Given the description of an element on the screen output the (x, y) to click on. 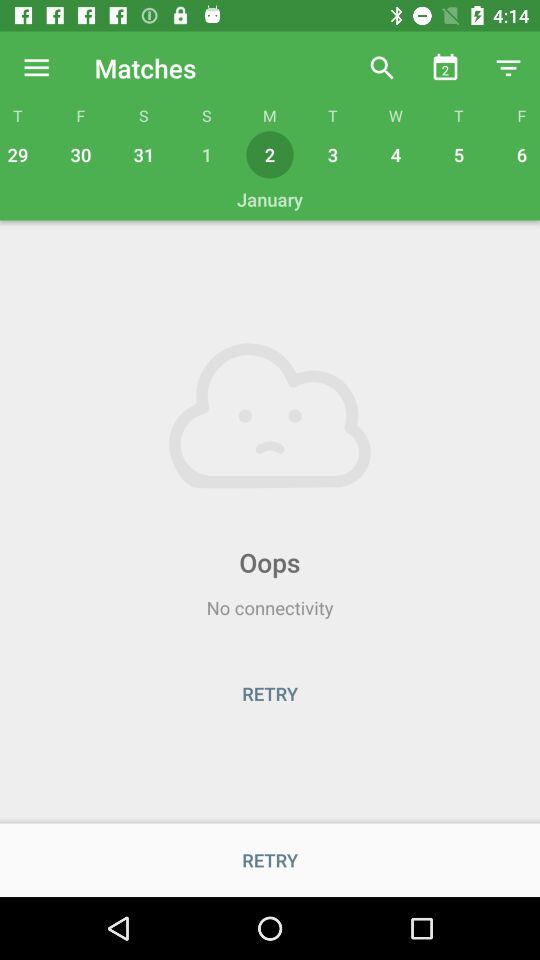
tap the item to the right of the 3 (395, 154)
